Given the description of an element on the screen output the (x, y) to click on. 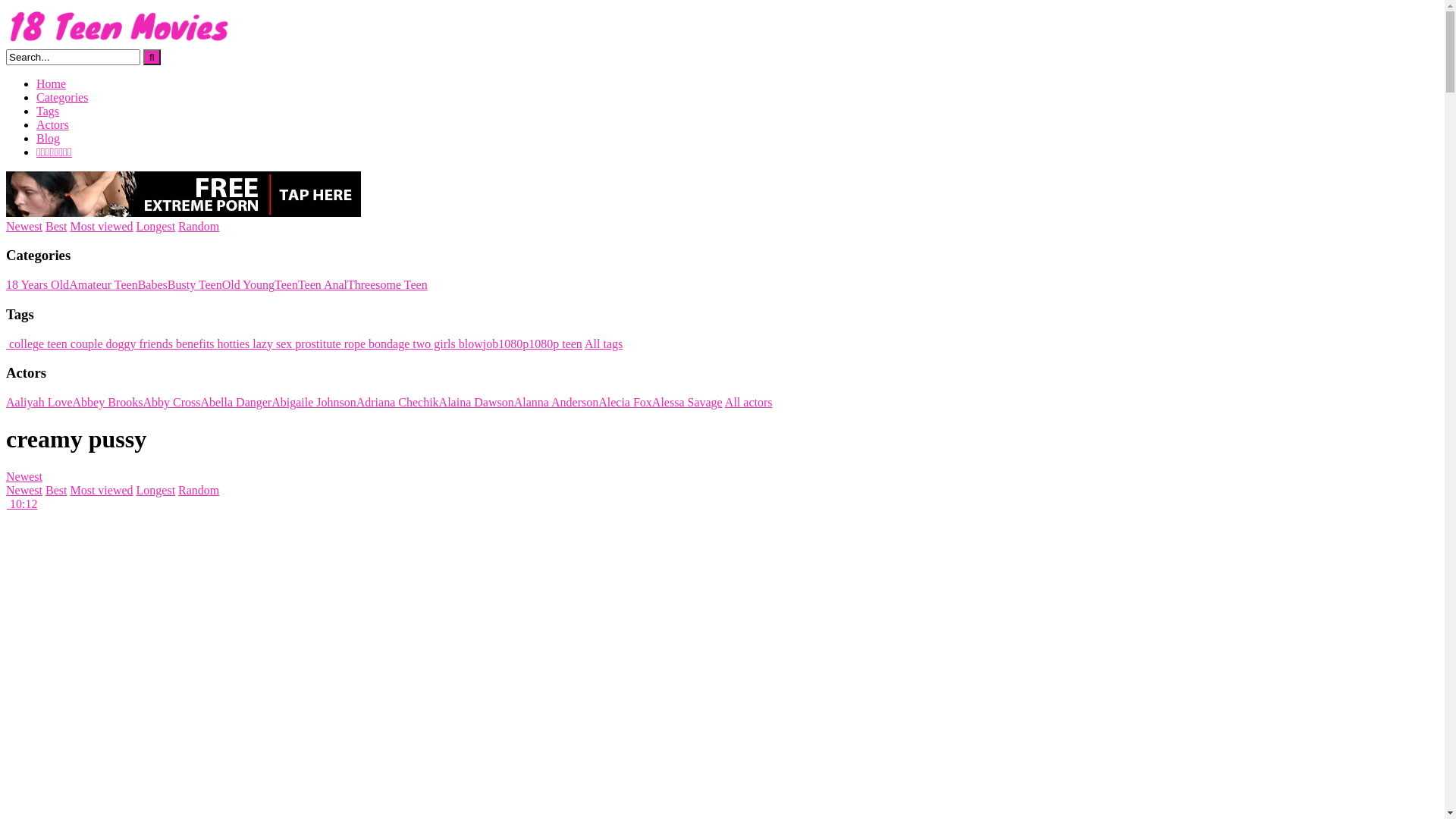
Babes Element type: text (152, 284)
Amateur Teen Element type: text (103, 284)
Actors Element type: text (52, 124)
 prostitute Element type: text (315, 342)
Abella Danger Element type: text (235, 401)
Most viewed Element type: text (100, 225)
Newest Element type: text (24, 476)
Home Element type: text (50, 83)
Alanna Anderson Element type: text (556, 401)
Abigaile Johnson Element type: text (313, 401)
Blog Element type: text (47, 137)
1080p Element type: text (513, 342)
Alessa Savage Element type: text (687, 401)
 lazy sex Element type: text (270, 342)
1080p teen Element type: text (555, 342)
Categories Element type: text (61, 97)
Alecia Fox Element type: text (625, 401)
Adriana Chechik Element type: text (397, 401)
Longest Element type: text (155, 225)
18 Years Old Element type: text (37, 284)
Abby Cross Element type: text (171, 401)
Newest Element type: text (24, 225)
All actors Element type: text (748, 401)
Busty Teen Element type: text (194, 284)
 college teen couple Element type: text (54, 342)
Teen Element type: text (286, 284)
Threesome Teen Element type: text (387, 284)
Newest Element type: text (24, 489)
All tags Element type: text (603, 342)
Skip to content Element type: text (5, 5)
Aaliyah Love Element type: text (39, 401)
Random Element type: text (198, 225)
Tags Element type: text (47, 110)
 two girls blowjob Element type: text (453, 342)
Most viewed Element type: text (100, 489)
 doggy Element type: text (119, 342)
Old Young Element type: text (248, 284)
18 Teen Movies Element type: hover (119, 41)
Abbey Brooks Element type: text (107, 401)
Random Element type: text (198, 489)
Teen Anal Element type: text (322, 284)
Longest Element type: text (155, 489)
 rope bondage Element type: text (375, 342)
Best Element type: text (55, 225)
 hotties Element type: text (232, 342)
Alaina Dawson Element type: text (476, 401)
 friends benefits Element type: text (175, 342)
Best Element type: text (55, 489)
